Given the description of an element on the screen output the (x, y) to click on. 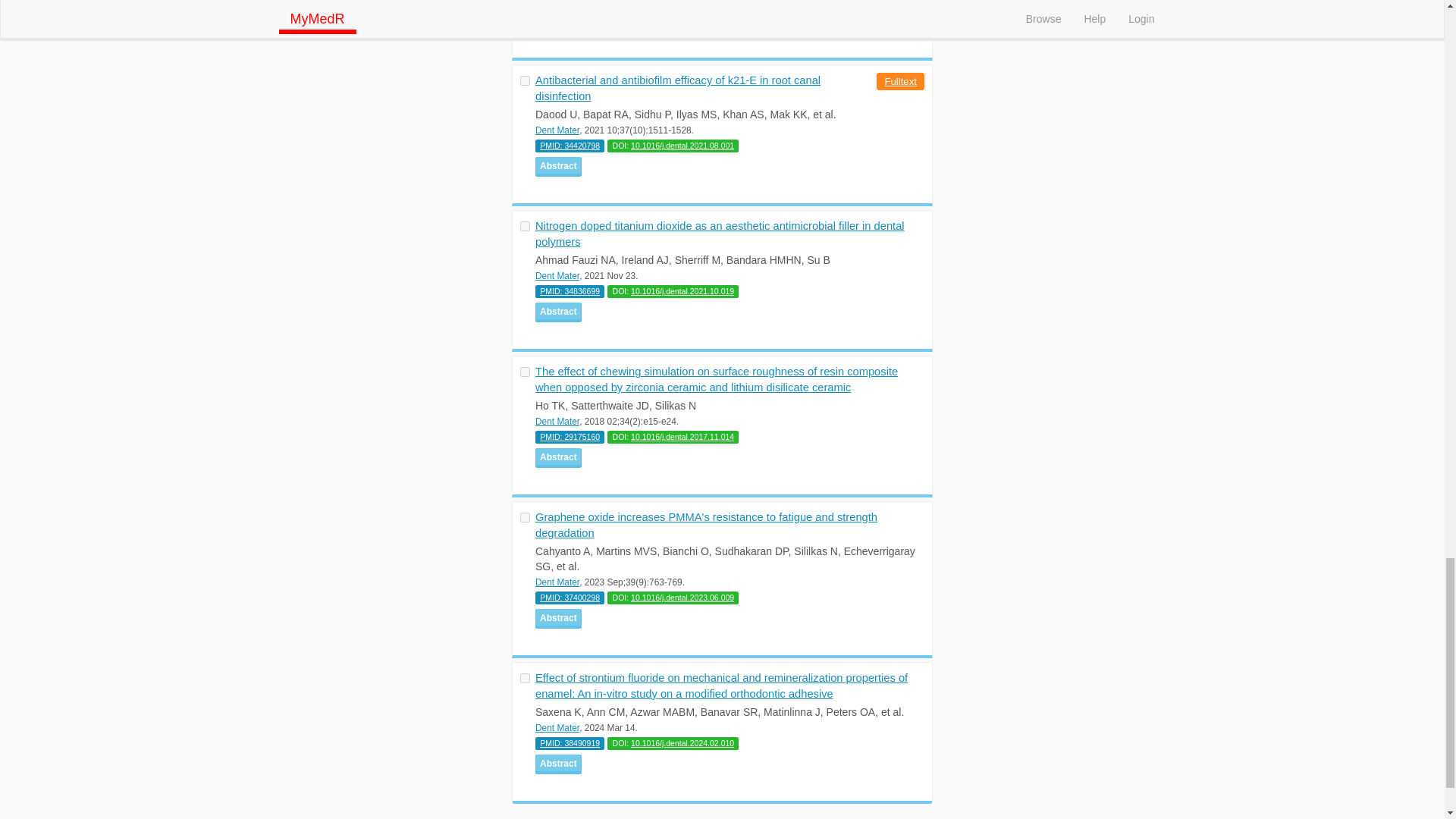
on (524, 678)
on (524, 80)
on (524, 225)
on (524, 371)
on (524, 517)
